Given the description of an element on the screen output the (x, y) to click on. 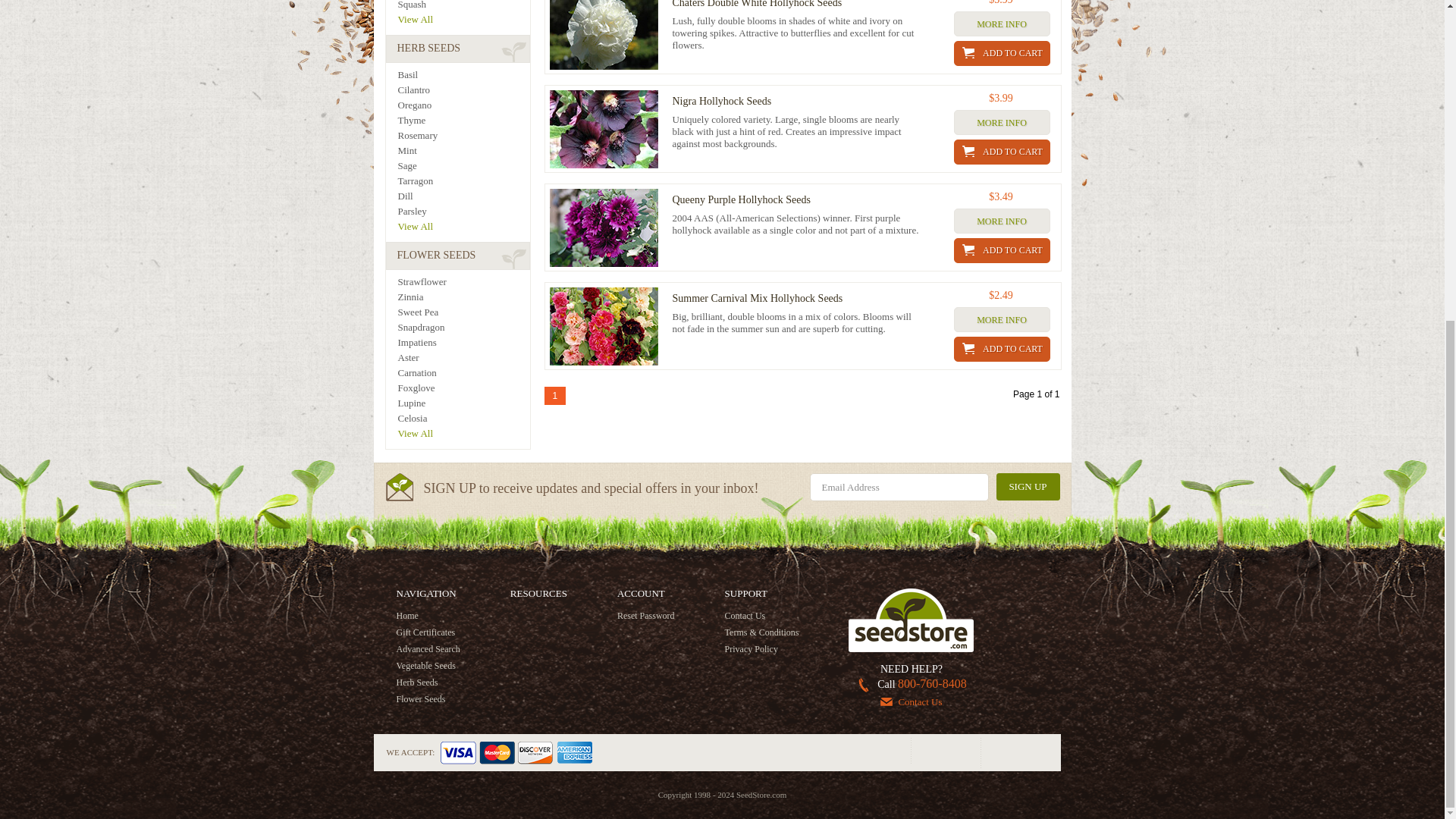
Rosemary (463, 135)
Zinnia (463, 296)
Oregano (463, 104)
Thyme (463, 120)
Email Address (898, 487)
Sage (463, 165)
View All (463, 19)
Tarragon (463, 180)
Basil (463, 74)
View All (463, 225)
Snapdragon (463, 327)
Parsley (463, 211)
Sign Up (1027, 486)
Strawflower (463, 281)
Carnation (463, 372)
